Given the description of an element on the screen output the (x, y) to click on. 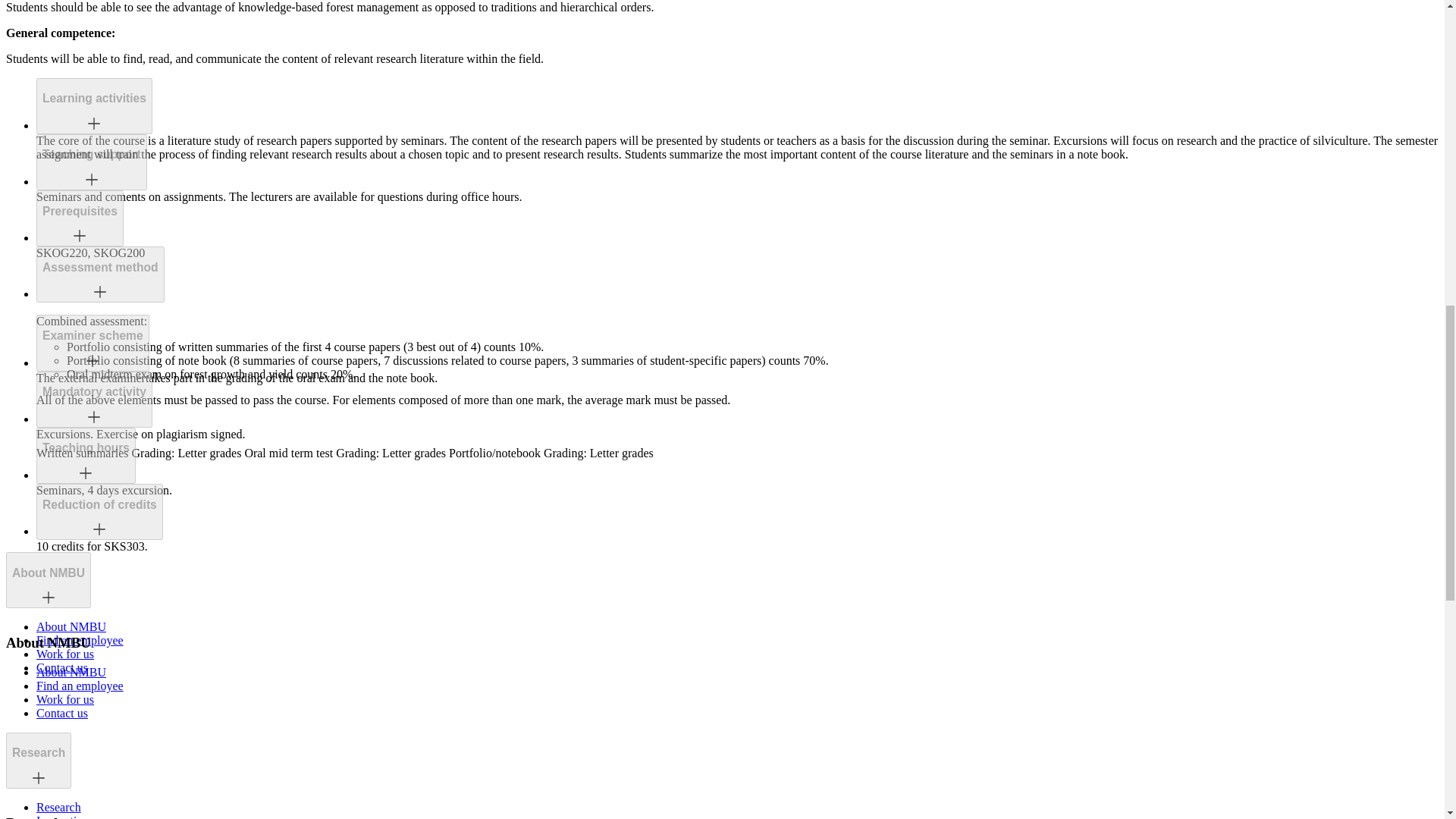
Learning activities (94, 98)
About NMBU (47, 580)
About NMBU (71, 626)
Contact us (61, 667)
About NMBU (47, 572)
Contact us (61, 712)
Research (38, 760)
Work for us (65, 653)
Teaching hours (85, 448)
About NMBU (71, 671)
Reduction of credits (99, 504)
Find an employee (79, 685)
Assessment method (100, 274)
Examiner scheme (92, 336)
Research (38, 753)
